Given the description of an element on the screen output the (x, y) to click on. 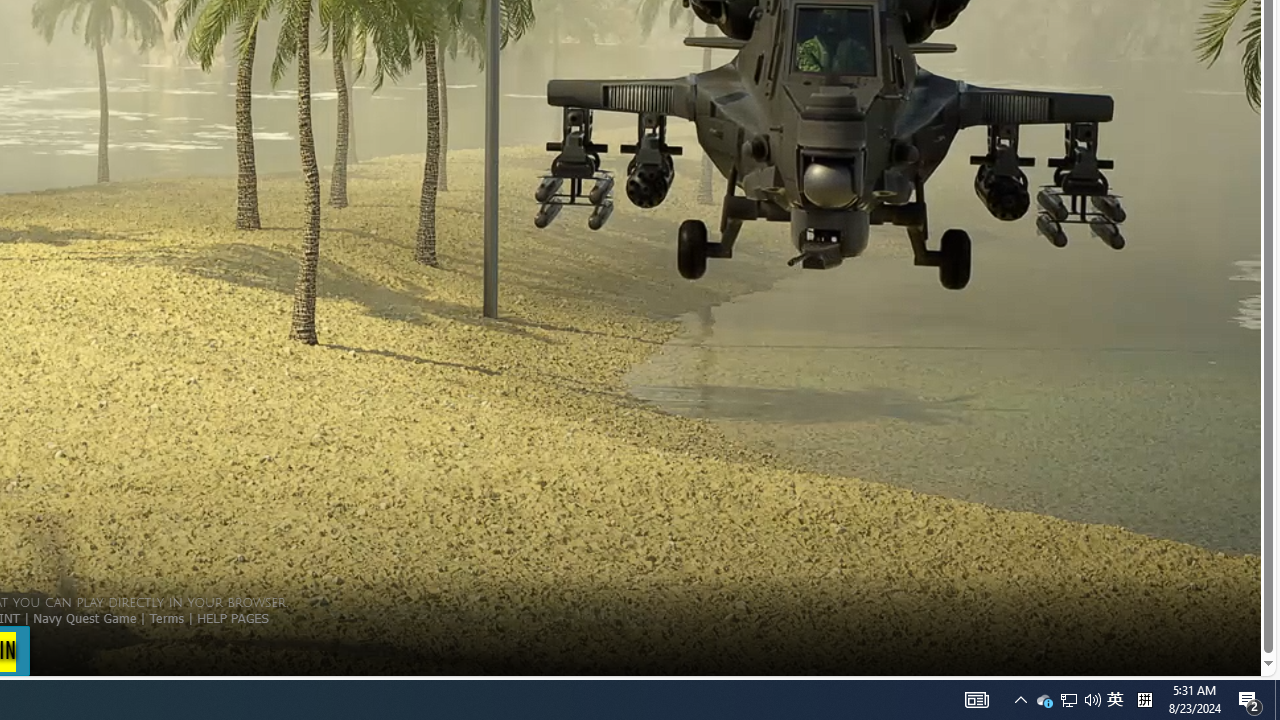
Terms (166, 617)
HELP PAGES (232, 617)
Navy Quest Game (84, 617)
